Given the description of an element on the screen output the (x, y) to click on. 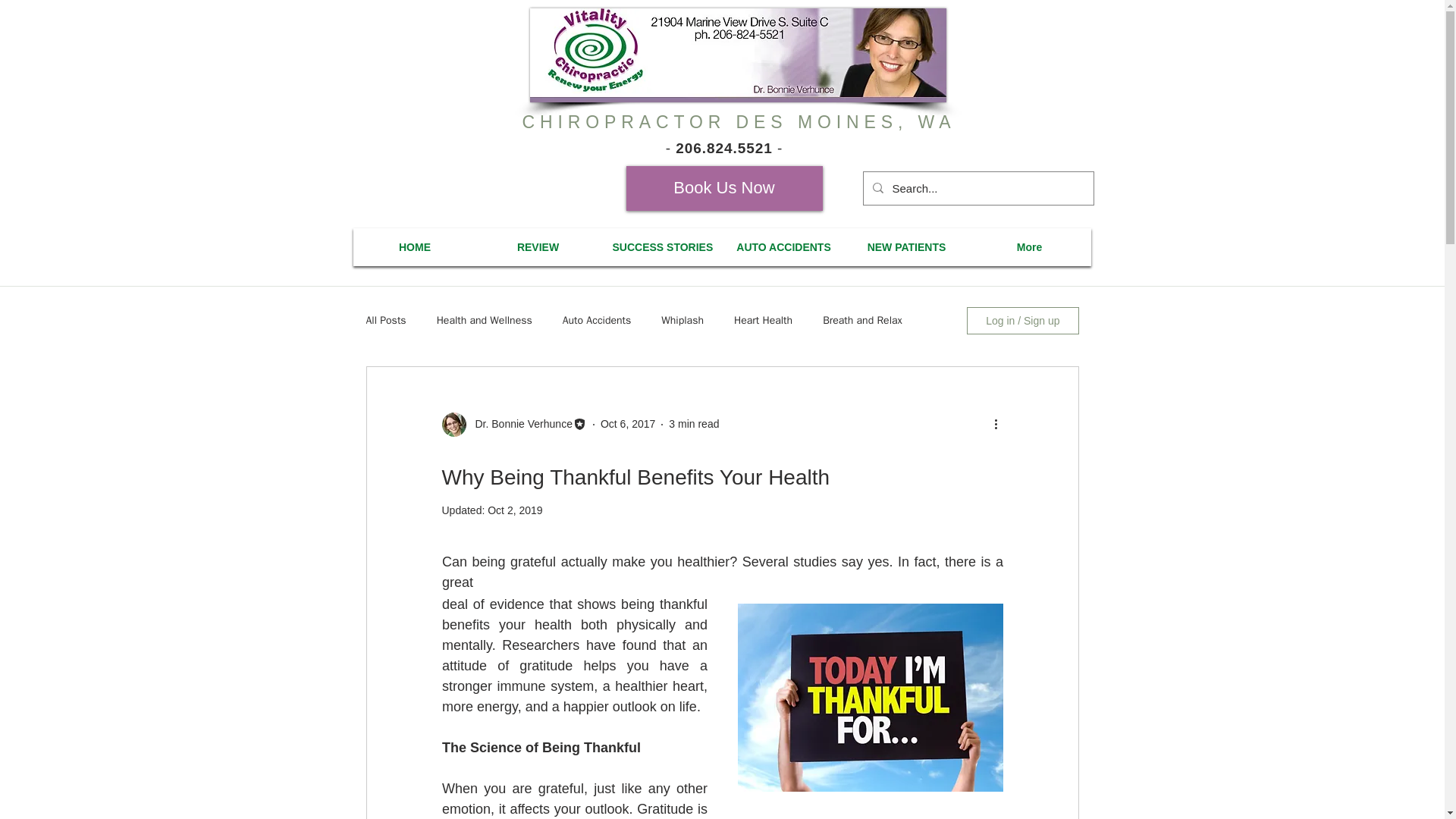
NEW PATIENTS (906, 246)
Oct 6, 2017 (627, 423)
- 206.824.5521 - (724, 148)
AUTO ACCIDENTS (783, 246)
Breath and Relax (862, 320)
REVIEW (537, 246)
All Posts (385, 320)
3 min read (693, 423)
HOME (415, 246)
Heart Health (762, 320)
SUCCESS STORIES (660, 246)
Oct 2, 2019 (514, 510)
Book Us Now (724, 188)
Health and Wellness (484, 320)
Whiplash (682, 320)
